Given the description of an element on the screen output the (x, y) to click on. 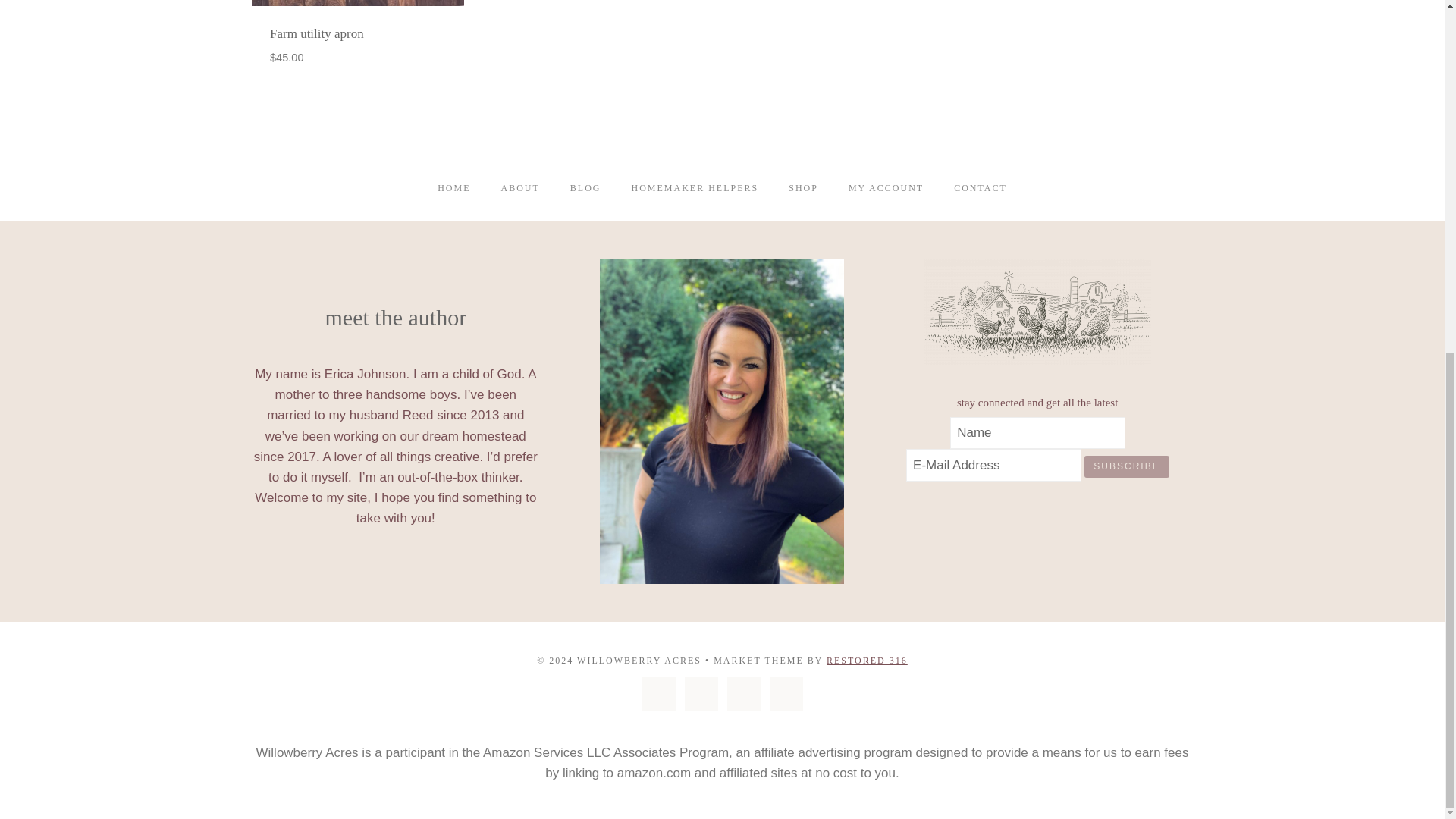
ABOUT (519, 188)
HOME (453, 188)
HOMEMAKER HELPERS (694, 188)
Farm utility apron (316, 33)
SHOP (802, 188)
Subscribe (1126, 466)
BLOG (584, 188)
